Given the description of an element on the screen output the (x, y) to click on. 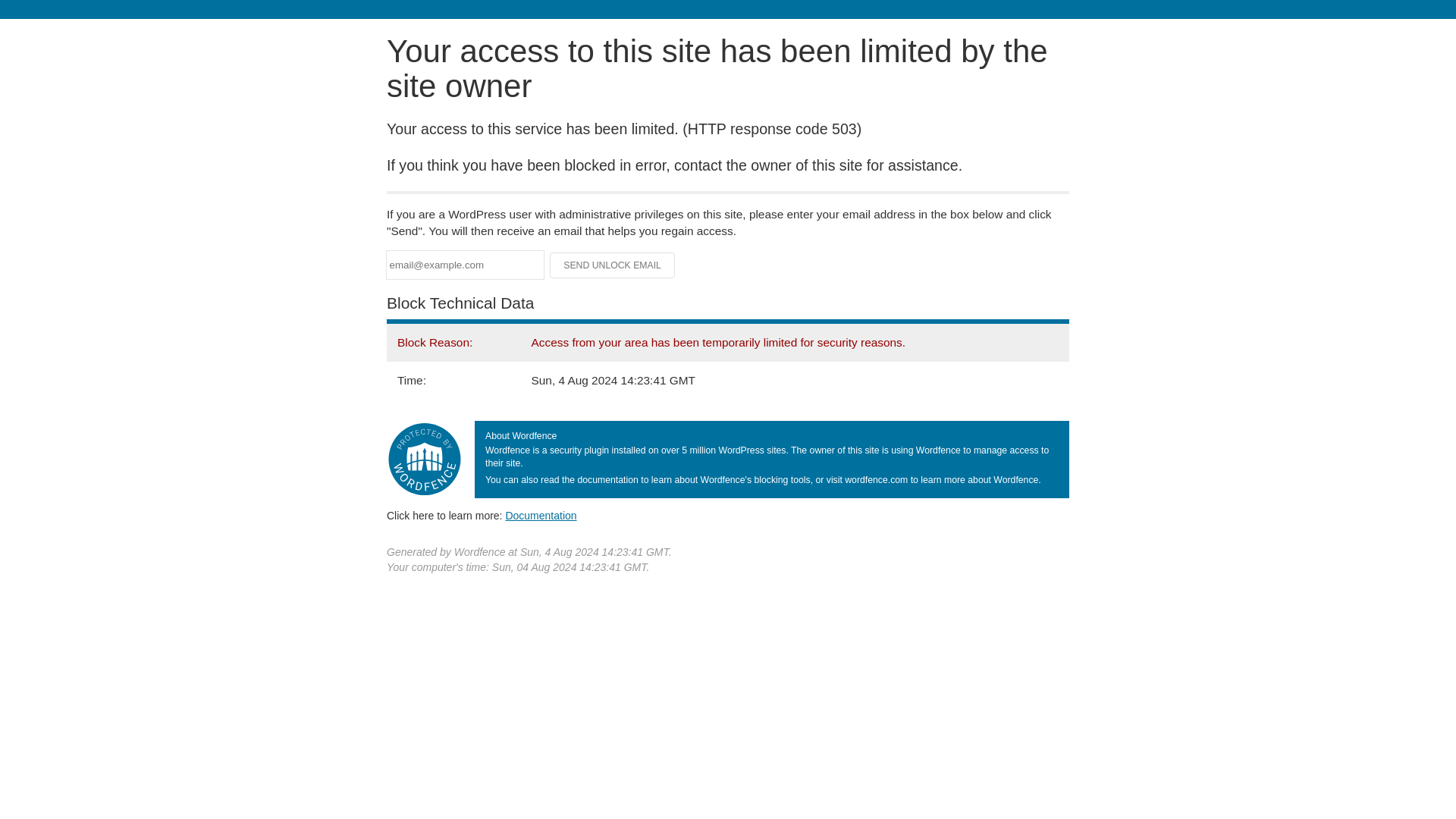
Send Unlock Email (612, 265)
Documentation (540, 515)
Send Unlock Email (612, 265)
